Given the description of an element on the screen output the (x, y) to click on. 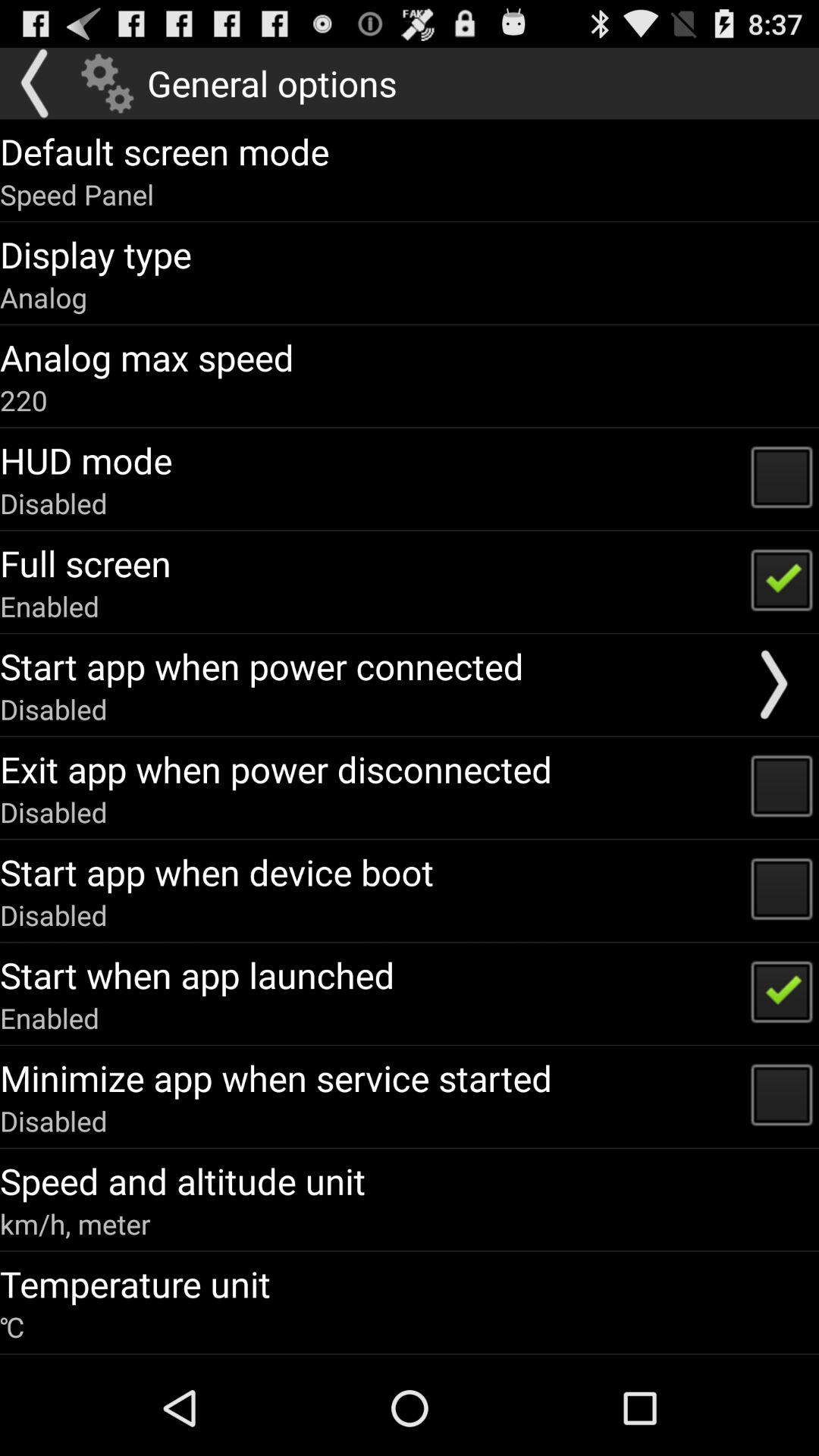
turn on icon below default screen mode (77, 194)
